Given the description of an element on the screen output the (x, y) to click on. 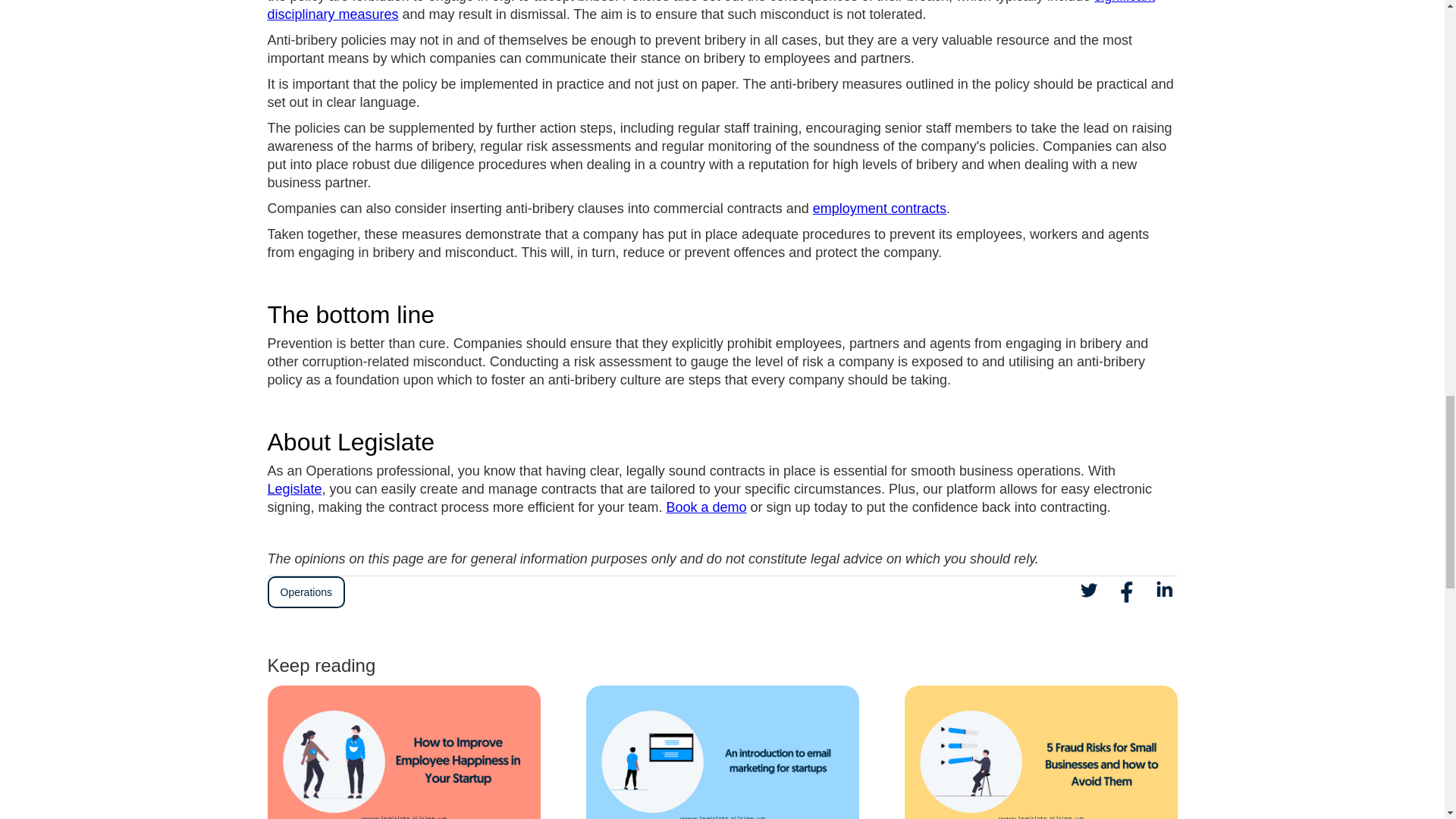
Book a demo (705, 507)
Legislate (293, 488)
employment contracts (879, 208)
significant disciplinary measures (710, 11)
Operations (304, 592)
